Given the description of an element on the screen output the (x, y) to click on. 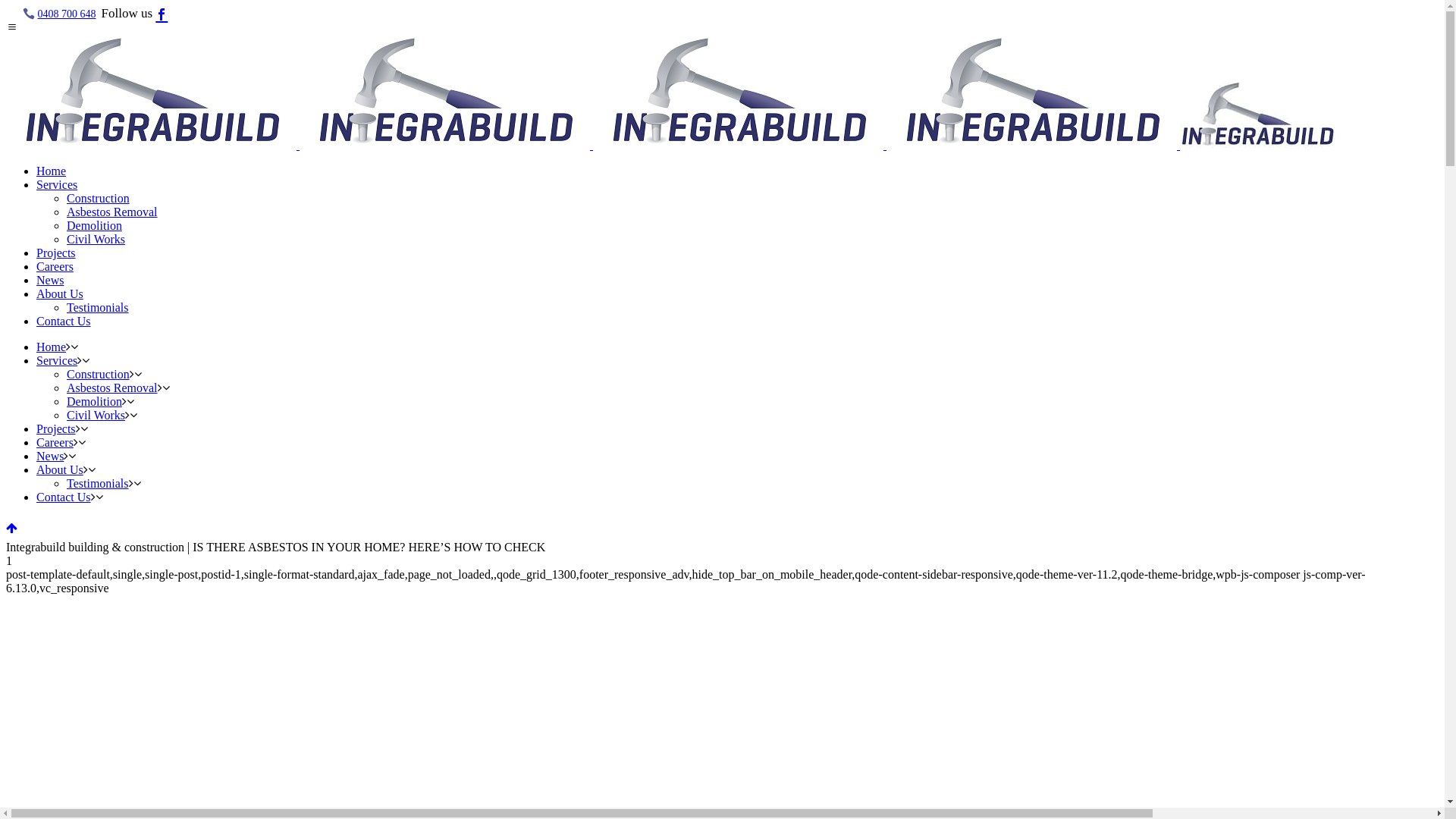
Testimonials Element type: text (97, 307)
0408 700 648 Element type: text (66, 13)
Careers Element type: text (54, 442)
Contact Us Element type: text (63, 496)
Services Element type: text (56, 360)
Testimonials Element type: text (97, 482)
Demolition Element type: text (94, 401)
Civil Works Element type: text (95, 238)
Demolition Element type: text (94, 225)
About Us Element type: text (59, 469)
About Us Element type: text (59, 293)
Services Element type: text (56, 184)
Home Element type: text (50, 170)
News Element type: text (49, 279)
Construction Element type: text (97, 373)
News Element type: text (49, 455)
Asbestos Removal Element type: text (111, 211)
Projects Element type: text (55, 428)
Construction Element type: text (97, 197)
Asbestos Removal Element type: text (111, 387)
Contact Us Element type: text (63, 320)
Home Element type: text (50, 346)
Careers Element type: text (54, 266)
Civil Works Element type: text (95, 414)
Projects Element type: text (55, 252)
